Given the description of an element on the screen output the (x, y) to click on. 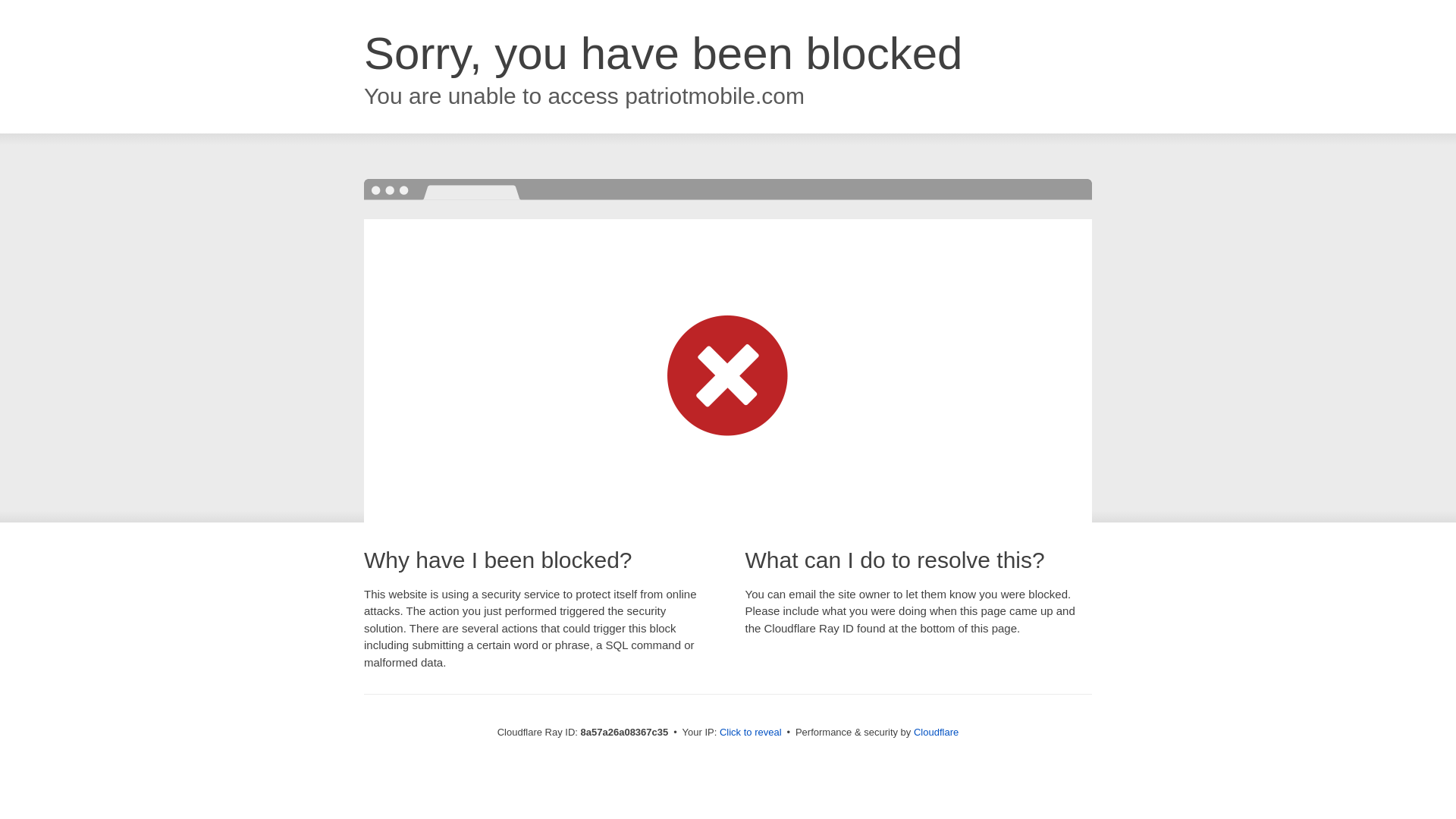
Cloudflare (936, 731)
Click to reveal (750, 732)
